Given the description of an element on the screen output the (x, y) to click on. 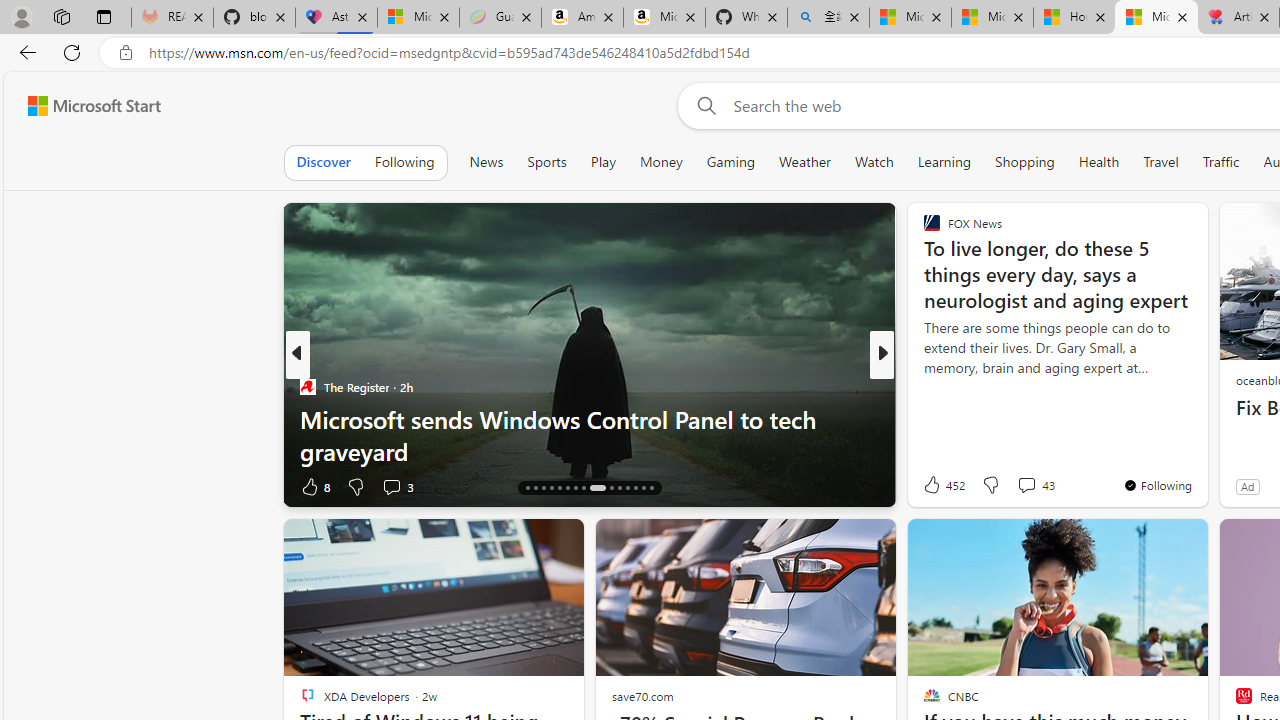
View comments 43 Comment (1026, 485)
INSIDER (923, 386)
Gaming (730, 161)
2k Like (933, 486)
Health (1098, 162)
HowToGeek (923, 386)
View comments 3 Comment (397, 486)
Learning (944, 161)
AutomationID: tab-26 (619, 487)
View comments 496 Comment (1013, 485)
save70.com (642, 696)
Traffic (1220, 161)
